Given the description of an element on the screen output the (x, y) to click on. 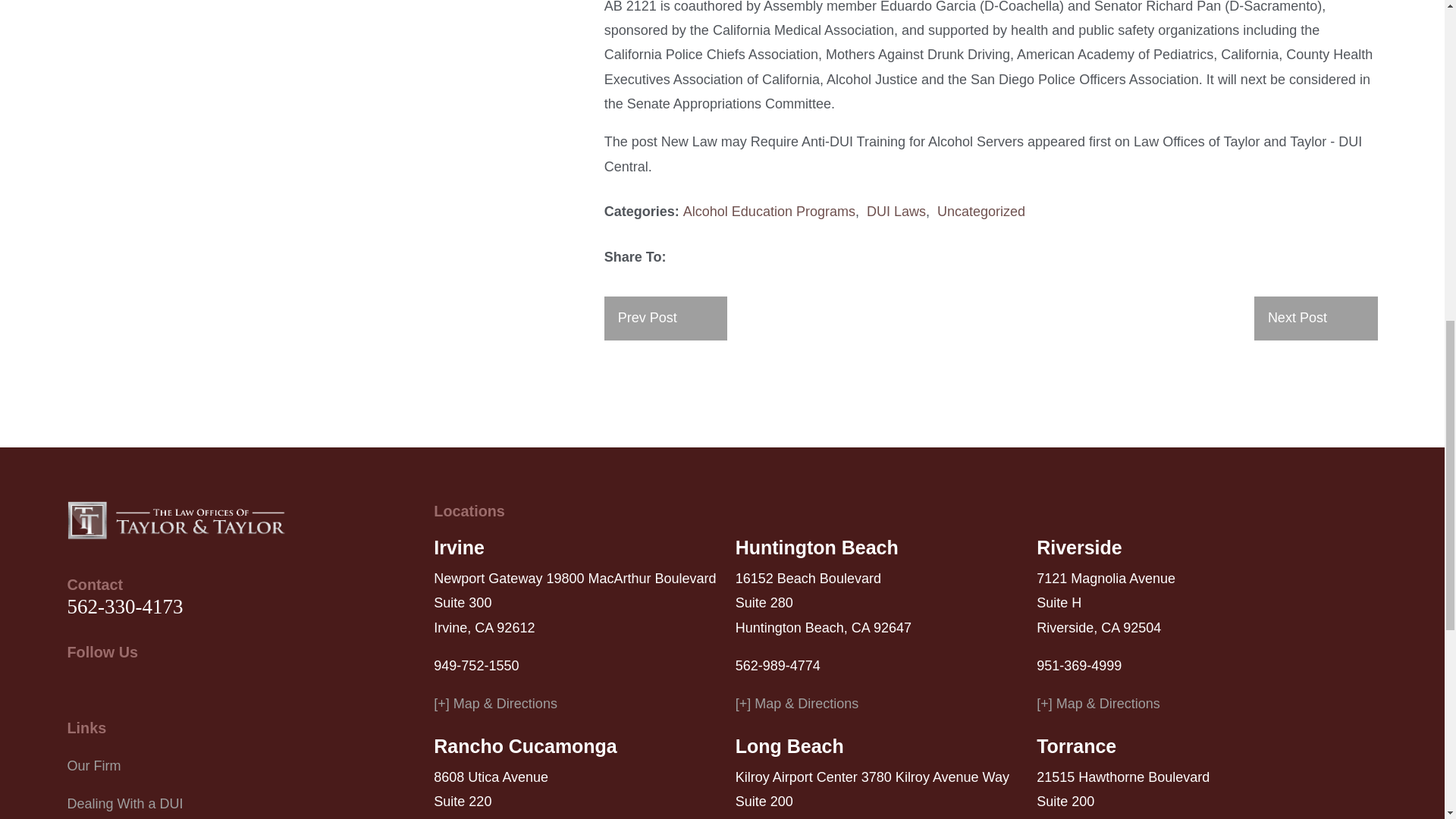
Twitter (75, 687)
Facebook (115, 687)
Home (175, 519)
